Given the description of an element on the screen output the (x, y) to click on. 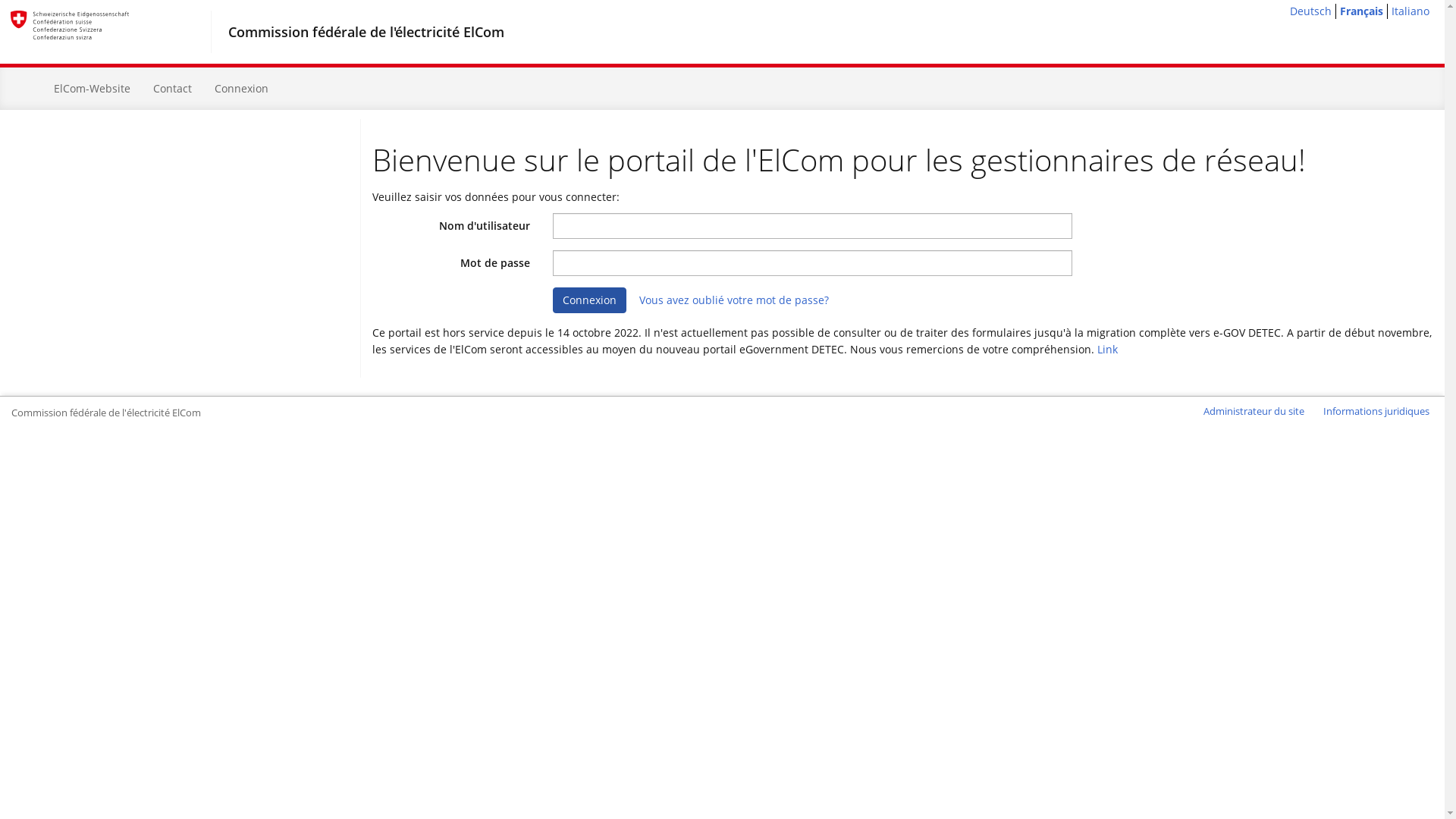
Connexion Element type: text (589, 300)
Informations juridiques Element type: text (1376, 410)
ElCom-Website Element type: text (91, 88)
Administrateur du site Element type: text (1253, 410)
Link Element type: text (1107, 349)
Italiano Element type: text (1410, 10)
Deutsch Element type: text (1310, 10)
Contact Element type: text (172, 88)
Connexion Element type: text (241, 88)
